Given the description of an element on the screen output the (x, y) to click on. 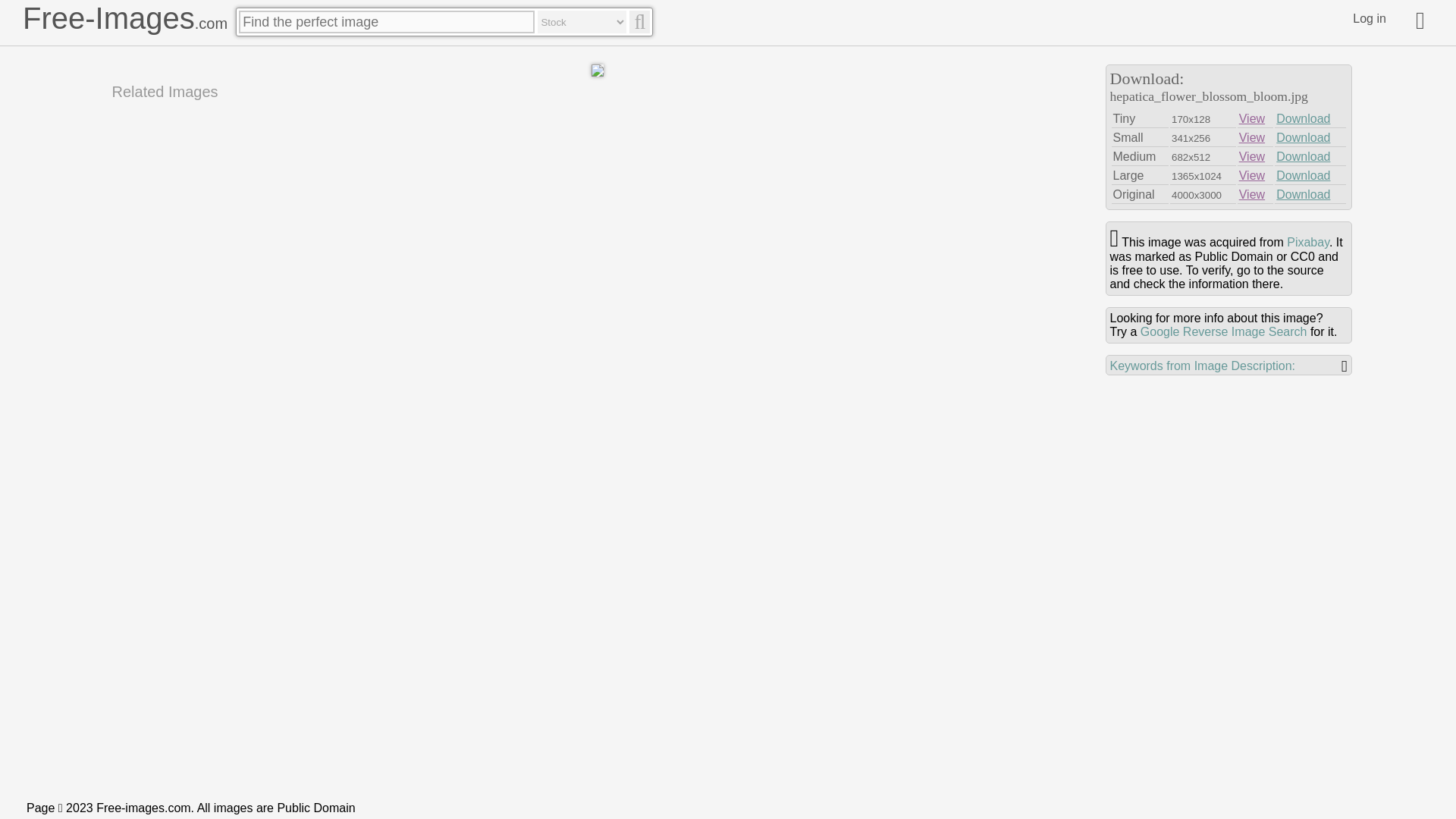
Download (1303, 155)
Download (1303, 174)
View (1252, 118)
Free-Images.com (125, 18)
View (1252, 137)
Download (1303, 118)
View (1252, 174)
Google Reverse Image Search (1223, 331)
Download (1303, 194)
Download (1303, 137)
